Given the description of an element on the screen output the (x, y) to click on. 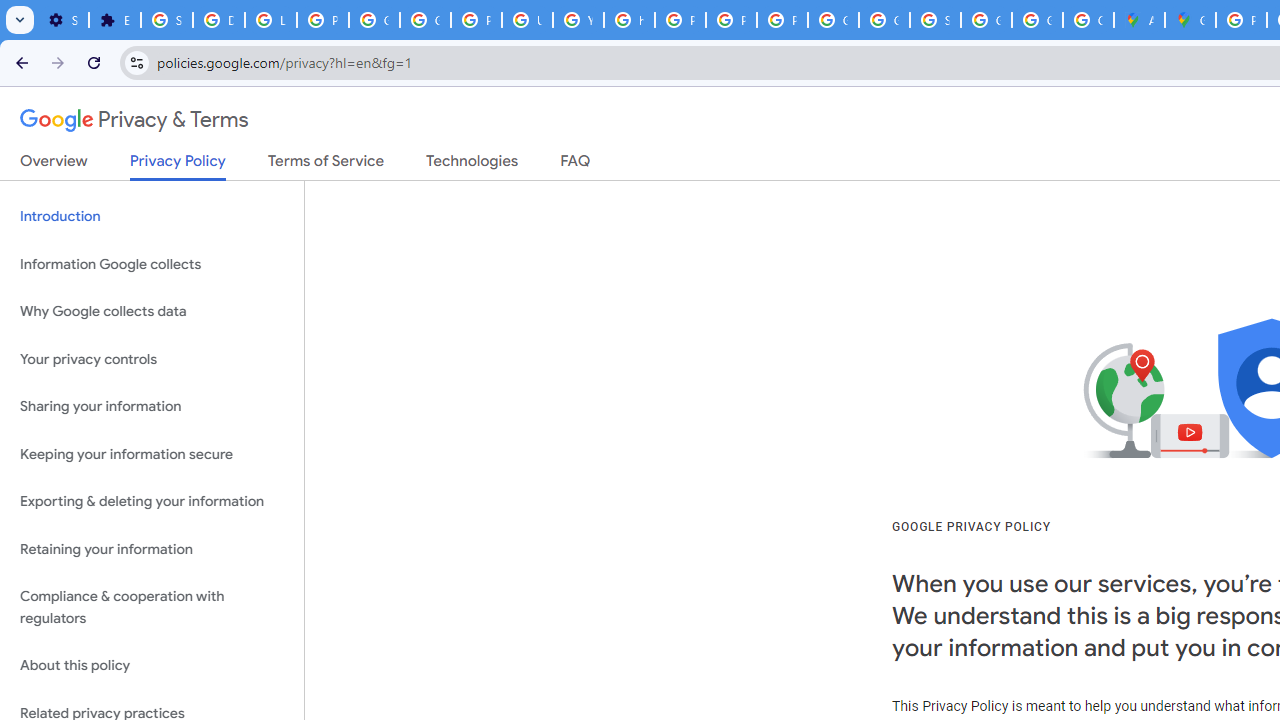
Learn how to find your photos - Google Photos Help (270, 20)
